Given the description of an element on the screen output the (x, y) to click on. 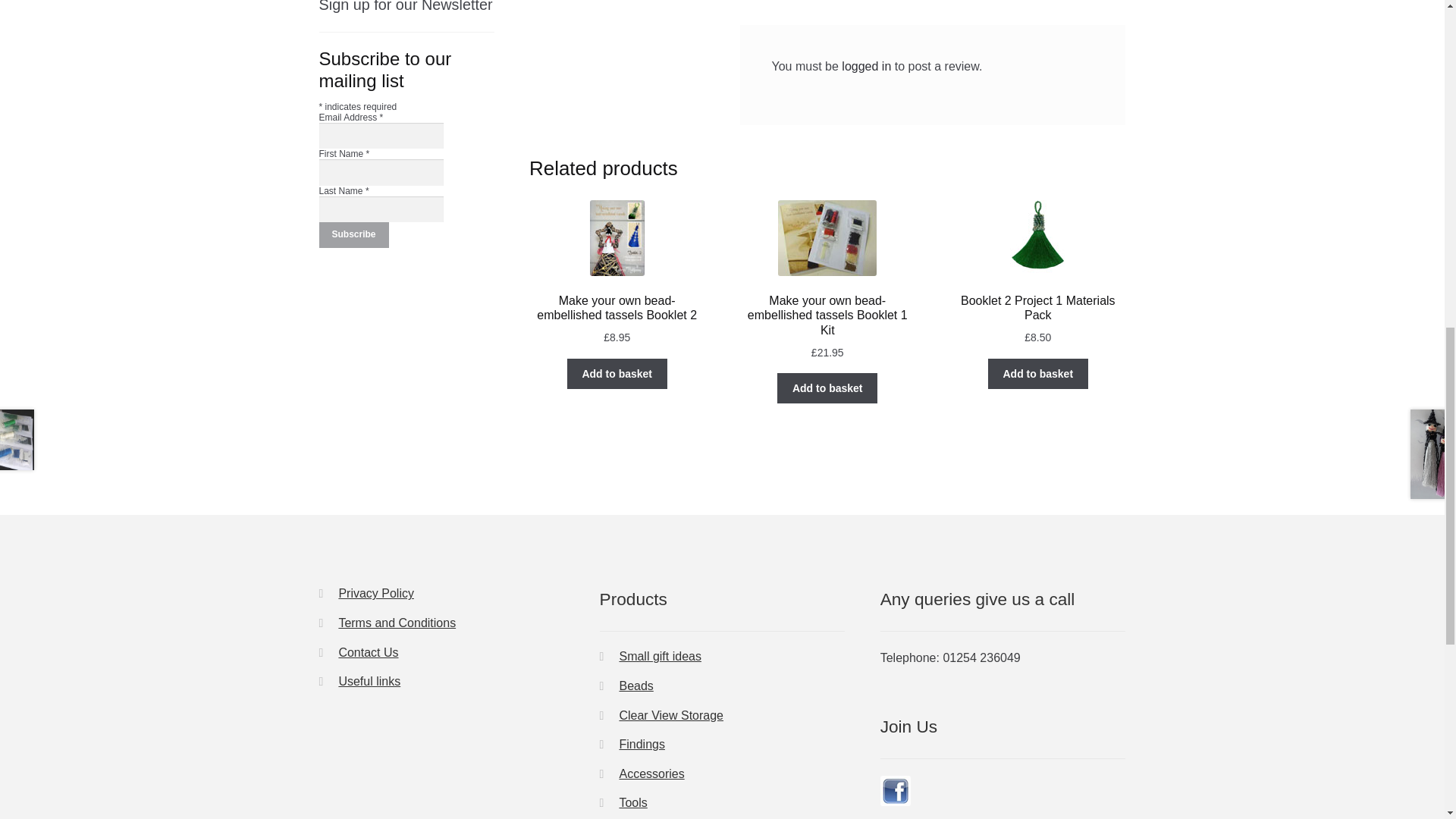
Subscribe (353, 234)
